Given the description of an element on the screen output the (x, y) to click on. 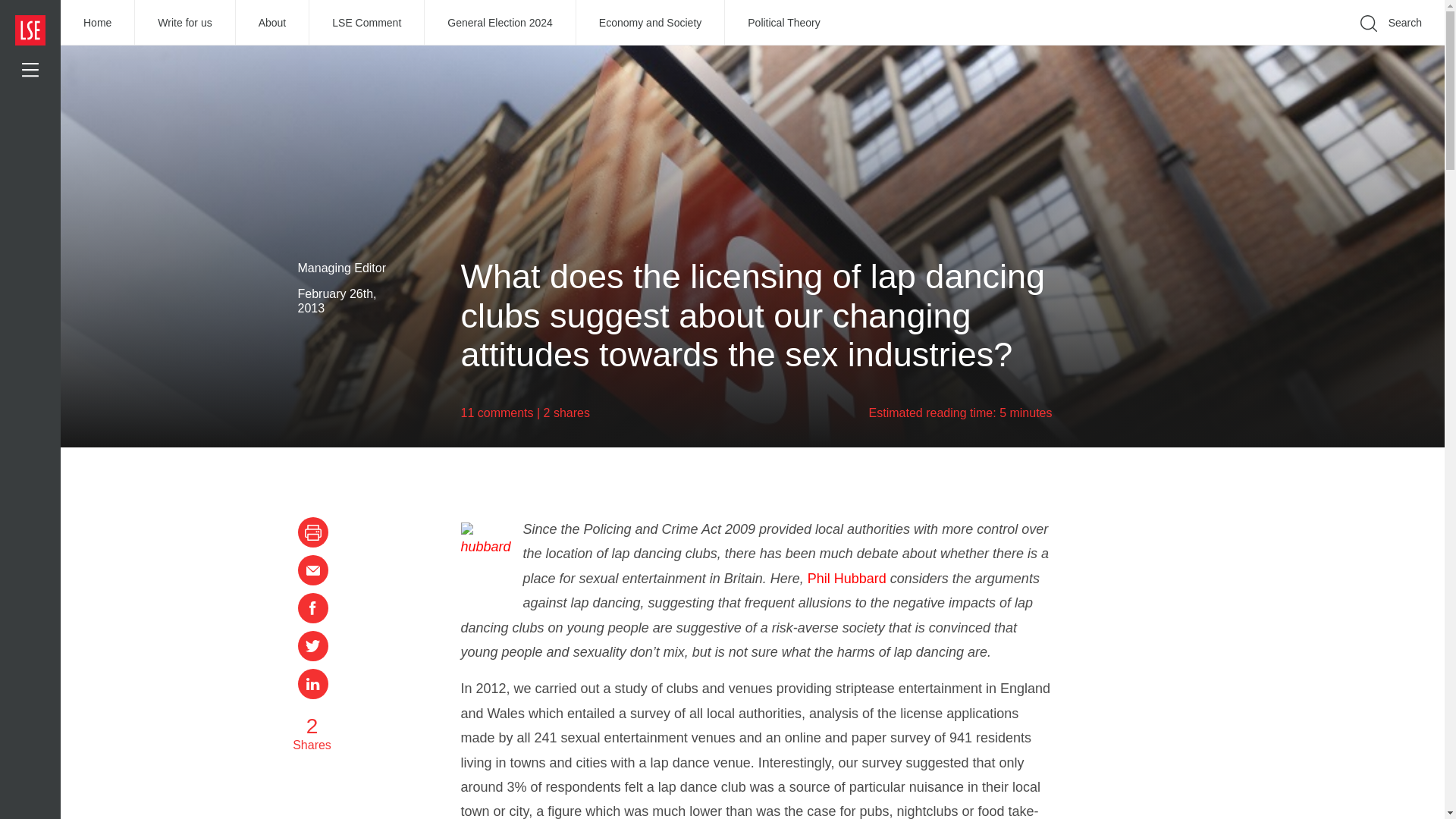
11 comments (497, 412)
LSE Comment (366, 22)
General Election 2024 (500, 22)
Phil Hubbard (847, 578)
Write for us (184, 22)
Political Theory (784, 22)
Go (1190, 44)
Economy and Society (650, 22)
About (272, 22)
Home (98, 22)
